Given the description of an element on the screen output the (x, y) to click on. 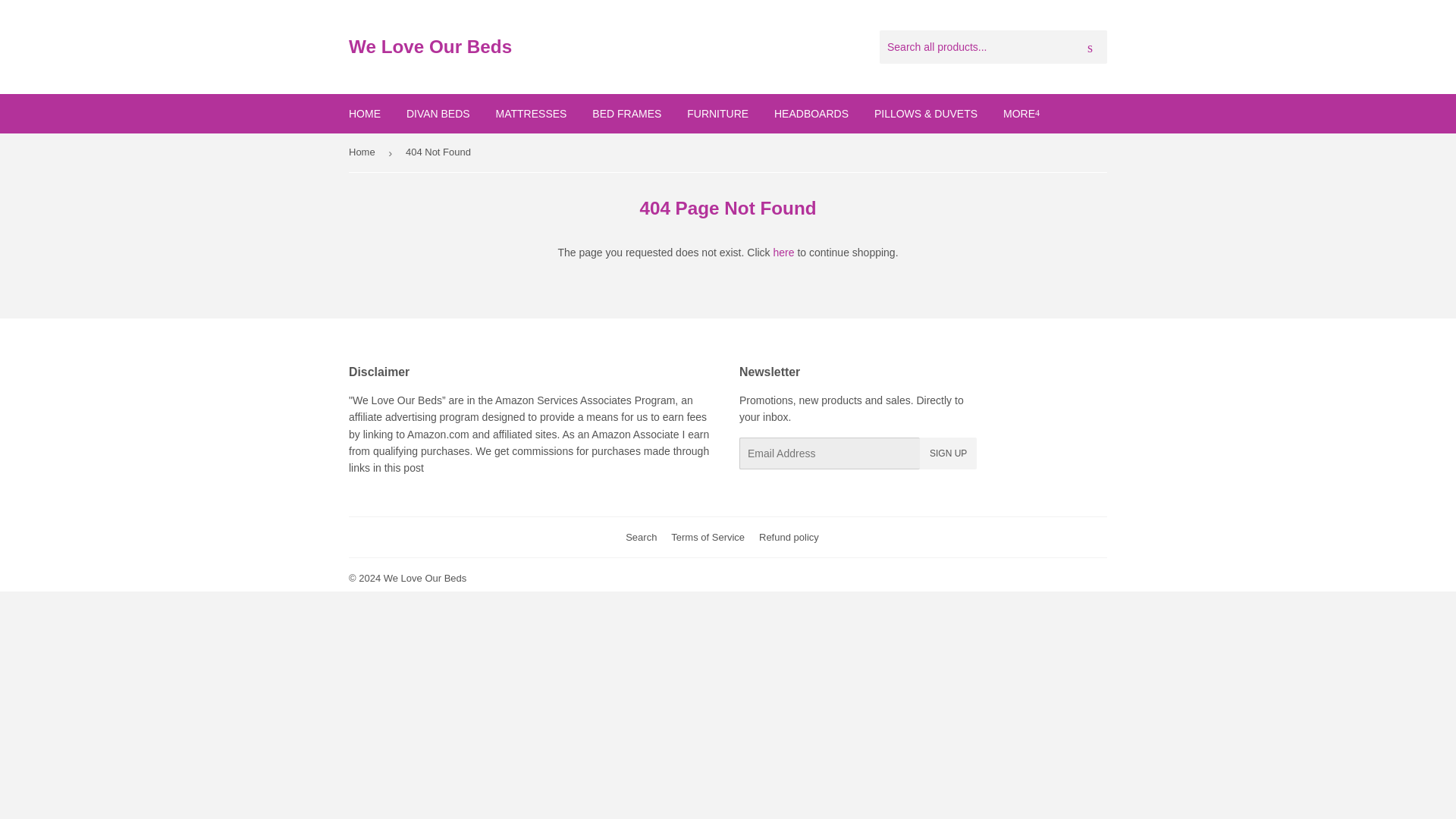
MATTRESSES (531, 113)
Search (641, 536)
Terms of Service (707, 536)
FURNITURE (717, 113)
here (783, 252)
HOME (364, 113)
BED FRAMES (626, 113)
DIVAN BEDS (437, 113)
Search (1089, 47)
We Love Our Beds (425, 577)
Refund policy (788, 536)
HEADBOARDS (811, 113)
SIGN UP (948, 453)
MORE (1021, 113)
We Love Our Beds (538, 46)
